Given the description of an element on the screen output the (x, y) to click on. 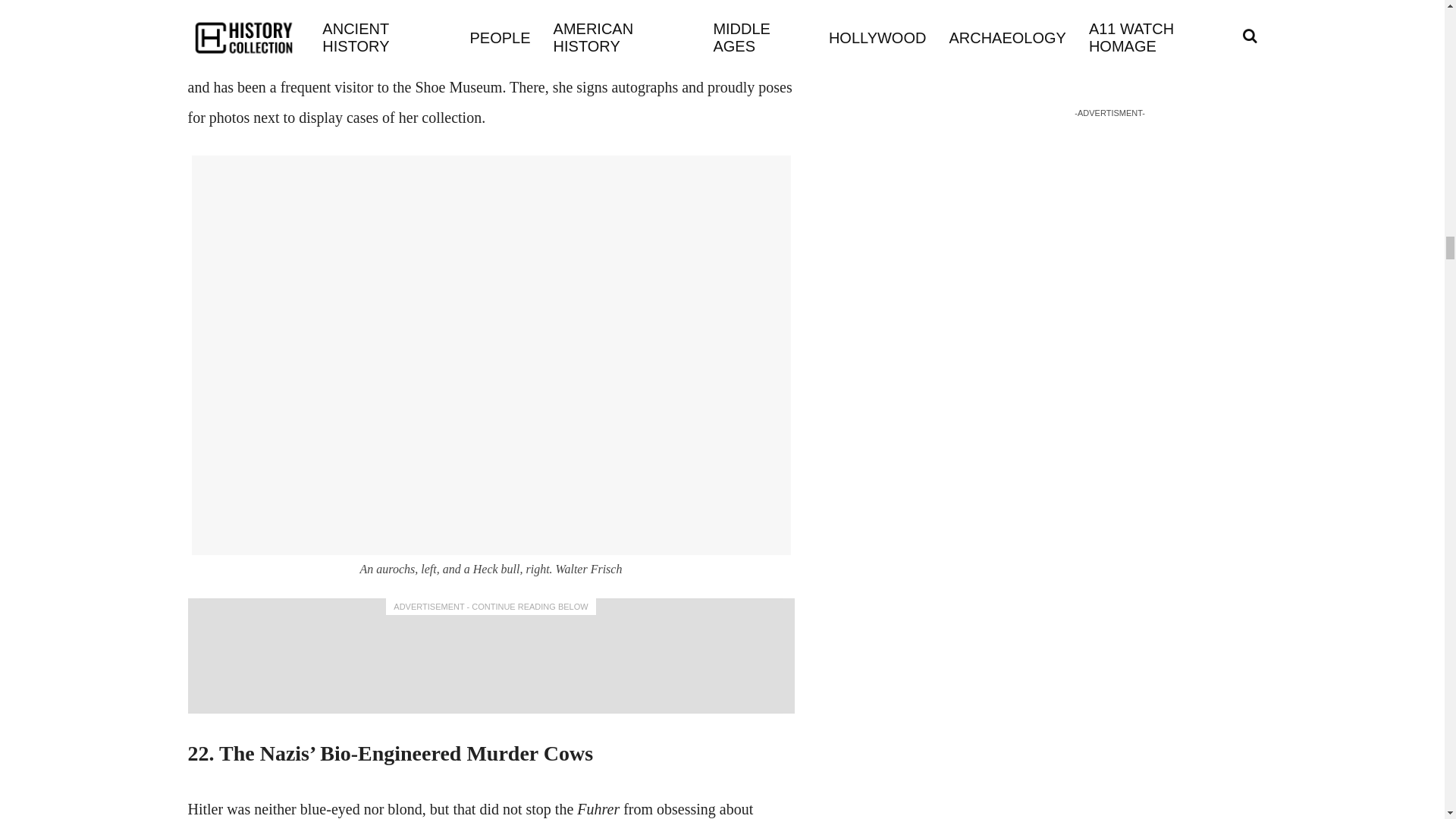
never paid for her corruption (465, 17)
